Given the description of an element on the screen output the (x, y) to click on. 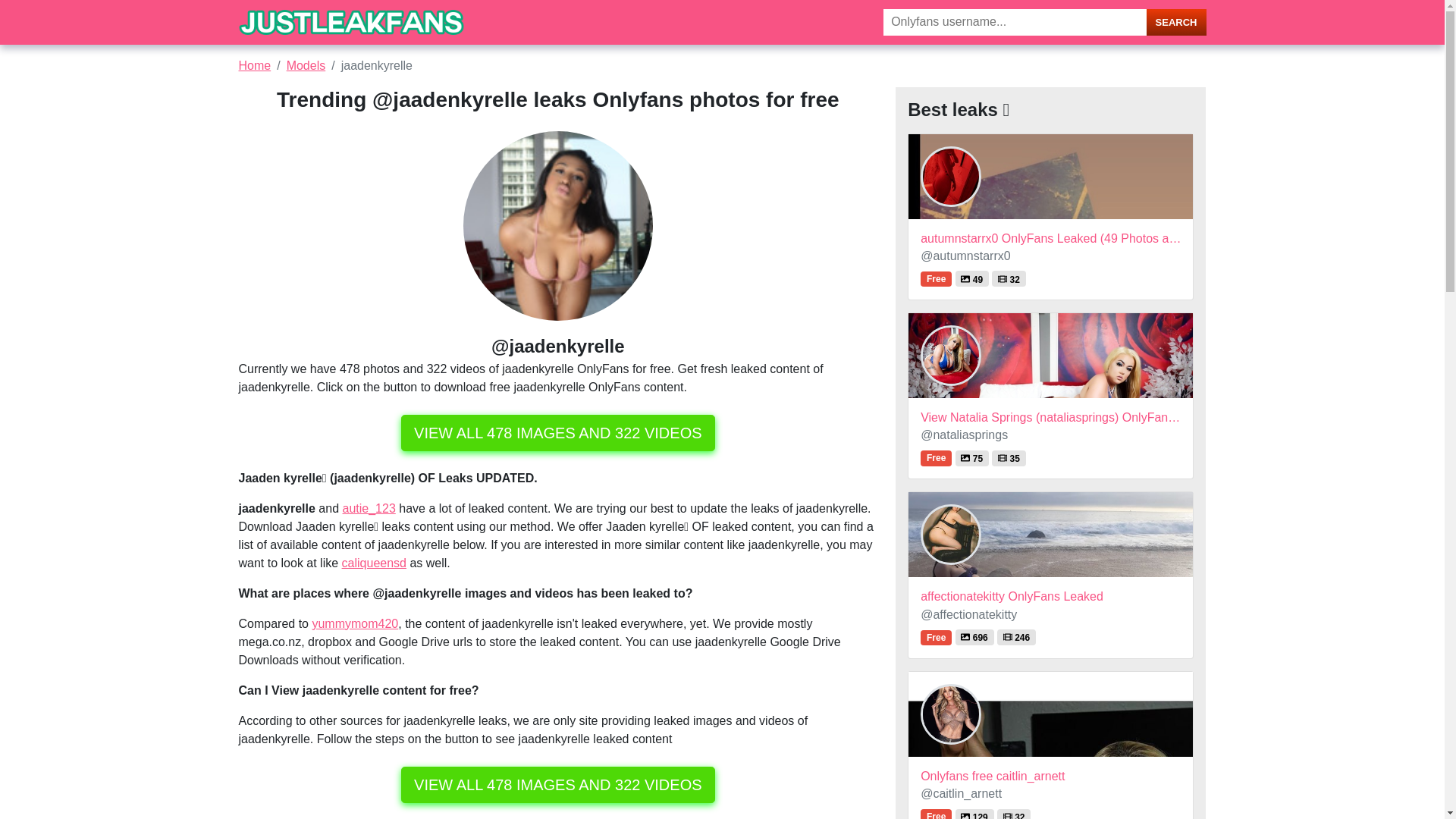
VIEW ALL 478 IMAGES AND 322 VIDEOS (557, 432)
yummymom420 (354, 623)
Models (306, 65)
caliqueensd (374, 562)
SEARCH (1177, 22)
Home (254, 65)
VIEW ALL 478 IMAGES AND 322 VIDEOS (557, 783)
